Given the description of an element on the screen output the (x, y) to click on. 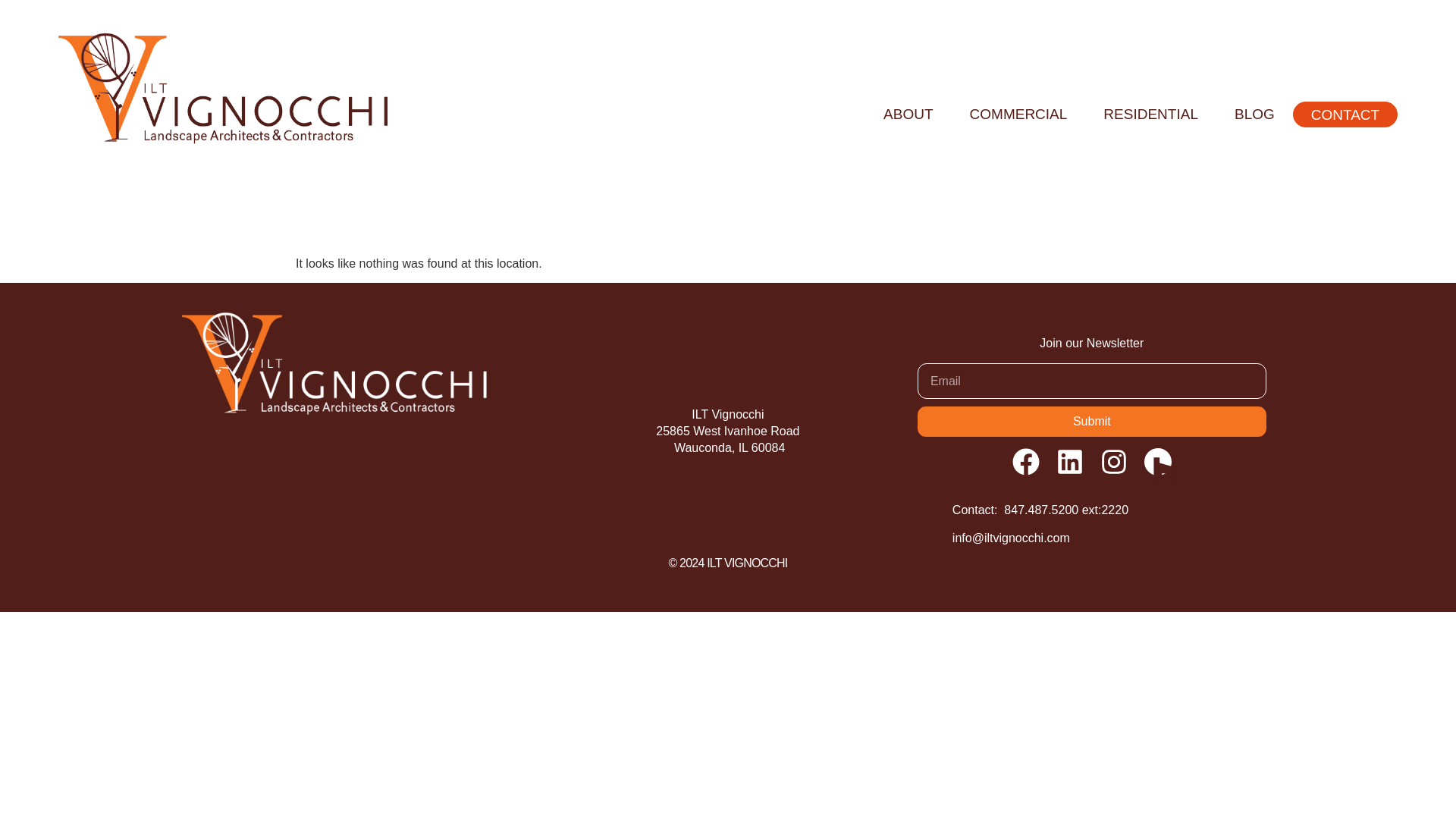
Submit (1091, 421)
COMMERCIAL (1019, 114)
RESIDENTIAL (1149, 114)
ABOUT (907, 114)
CONTACT (1344, 115)
BLOG (1253, 114)
